Given the description of an element on the screen output the (x, y) to click on. 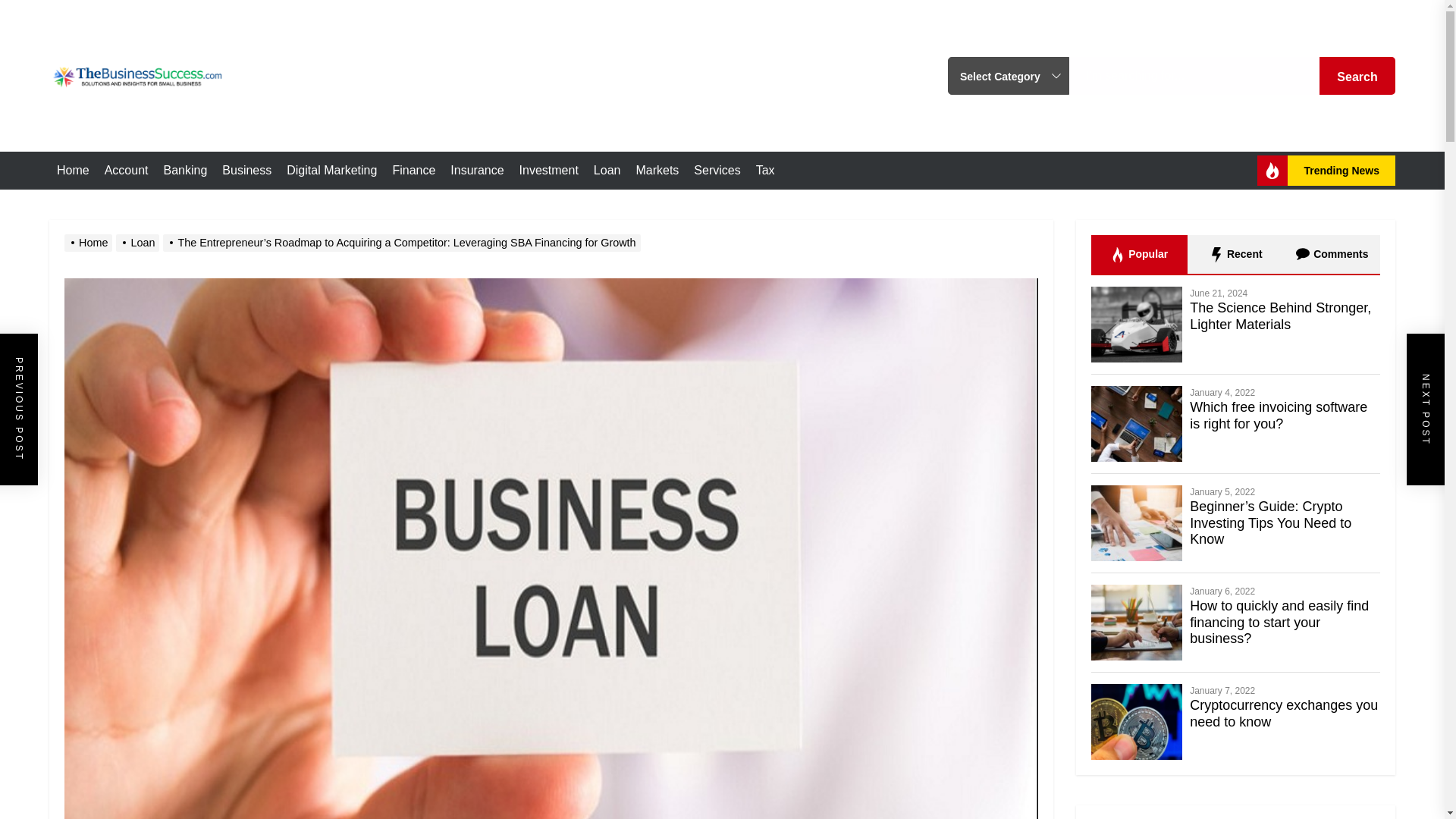
Investment (548, 170)
Digital Marketing (331, 170)
Banking (185, 170)
Insurance (476, 170)
Finance (413, 170)
Markets (656, 170)
Account (126, 170)
Cryptocurrency exchanges you need to know (1283, 713)
Search (1356, 75)
Home (72, 170)
Business (246, 170)
Trending News (1325, 170)
The Science Behind Stronger, Lighter Materials (1280, 316)
Loan (607, 170)
